Given the description of an element on the screen output the (x, y) to click on. 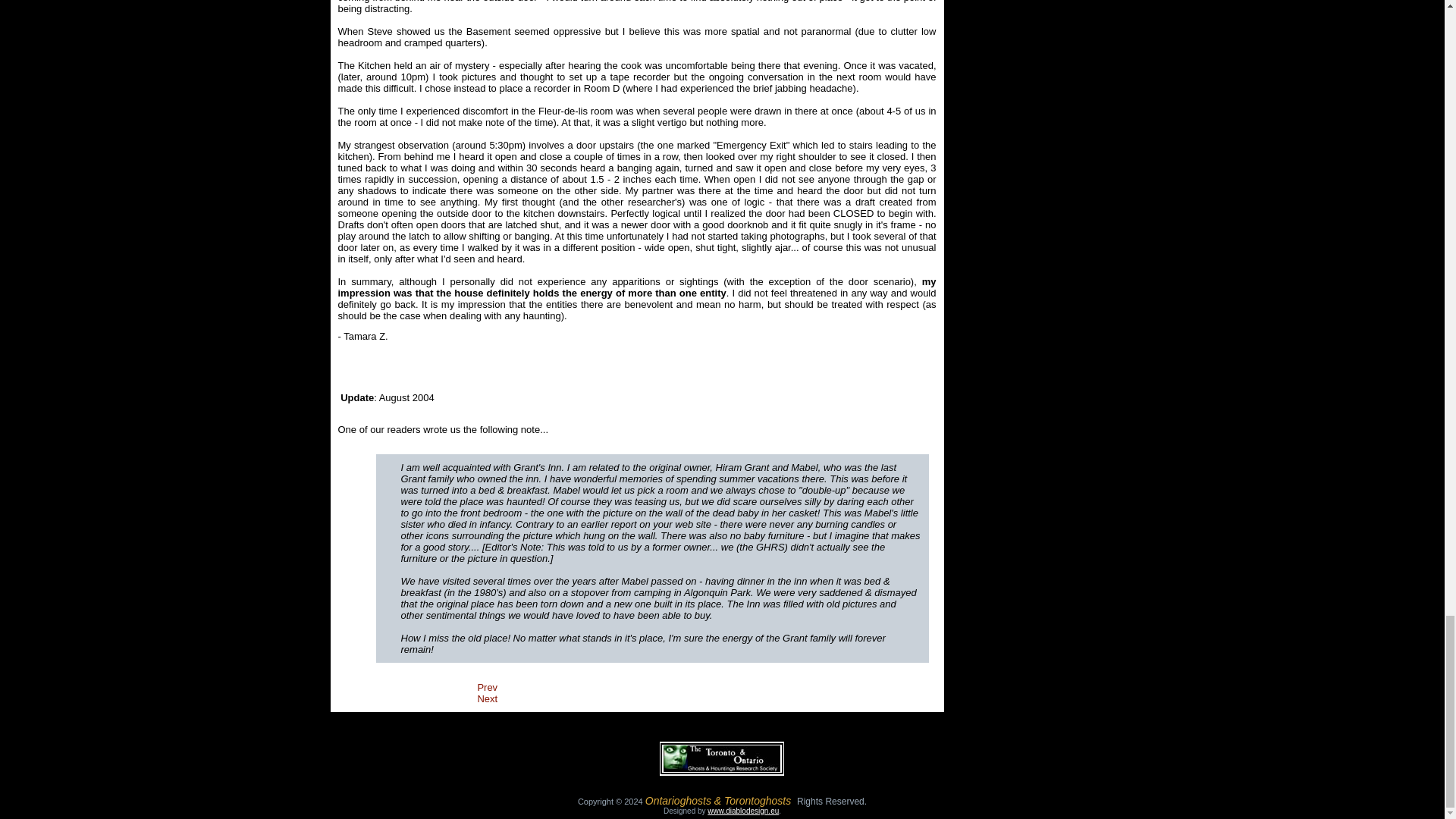
www.diablodesign.eu (742, 810)
Next (487, 698)
Prev (487, 686)
